Given the description of an element on the screen output the (x, y) to click on. 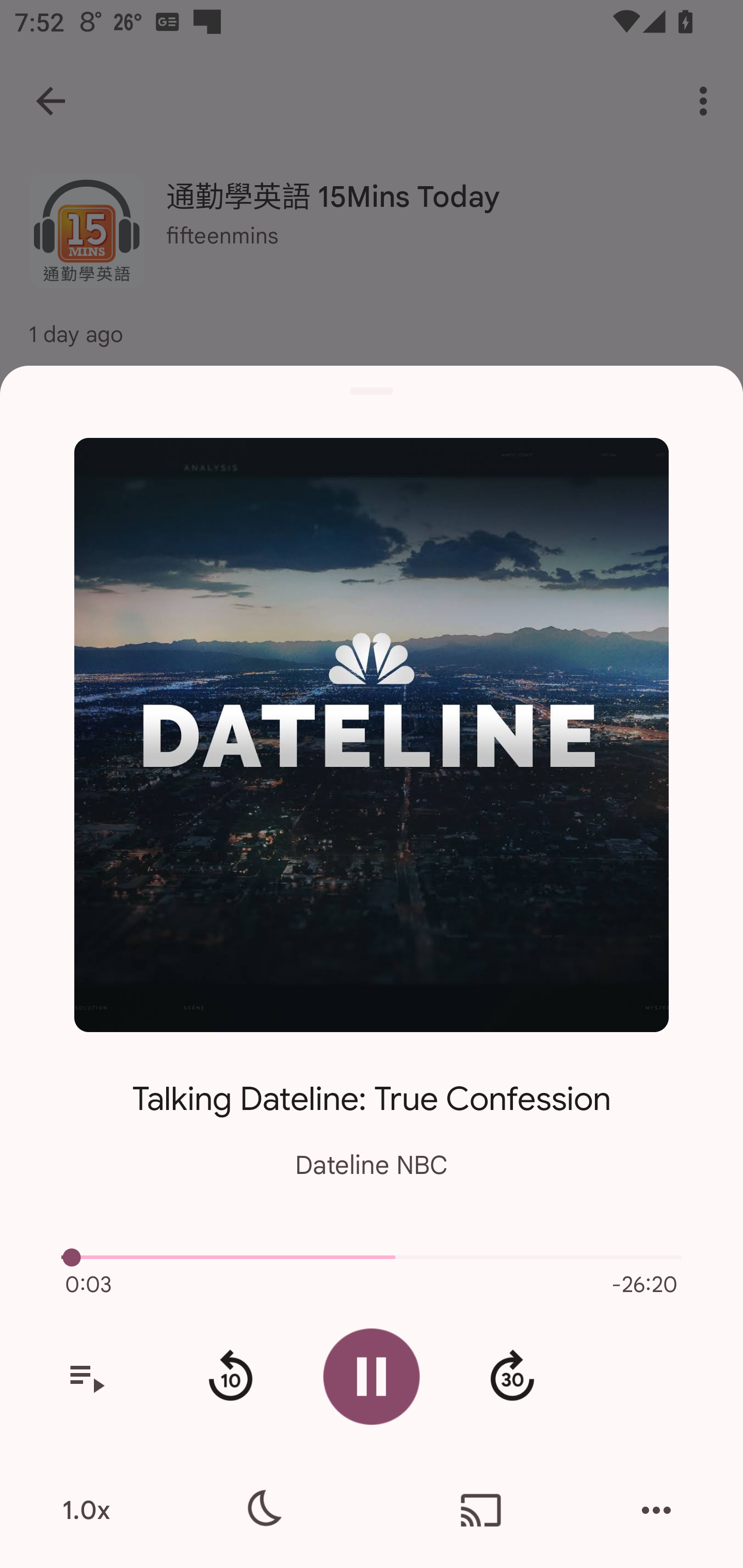
Open the show page for Dateline NBC (371, 734)
Talking Dateline: True Confession Dateline NBC (371, 1115)
20.0 Current episode playback (371, 1257)
Pause (371, 1376)
View your queue (86, 1376)
Rewind 10 seconds (230, 1376)
Fast forward 30 second (511, 1376)
1.0x Playback speed is 1.0. (86, 1510)
Sleep timer settings (261, 1510)
Cast. Disconnected (480, 1510)
More actions (655, 1510)
